Given the description of an element on the screen output the (x, y) to click on. 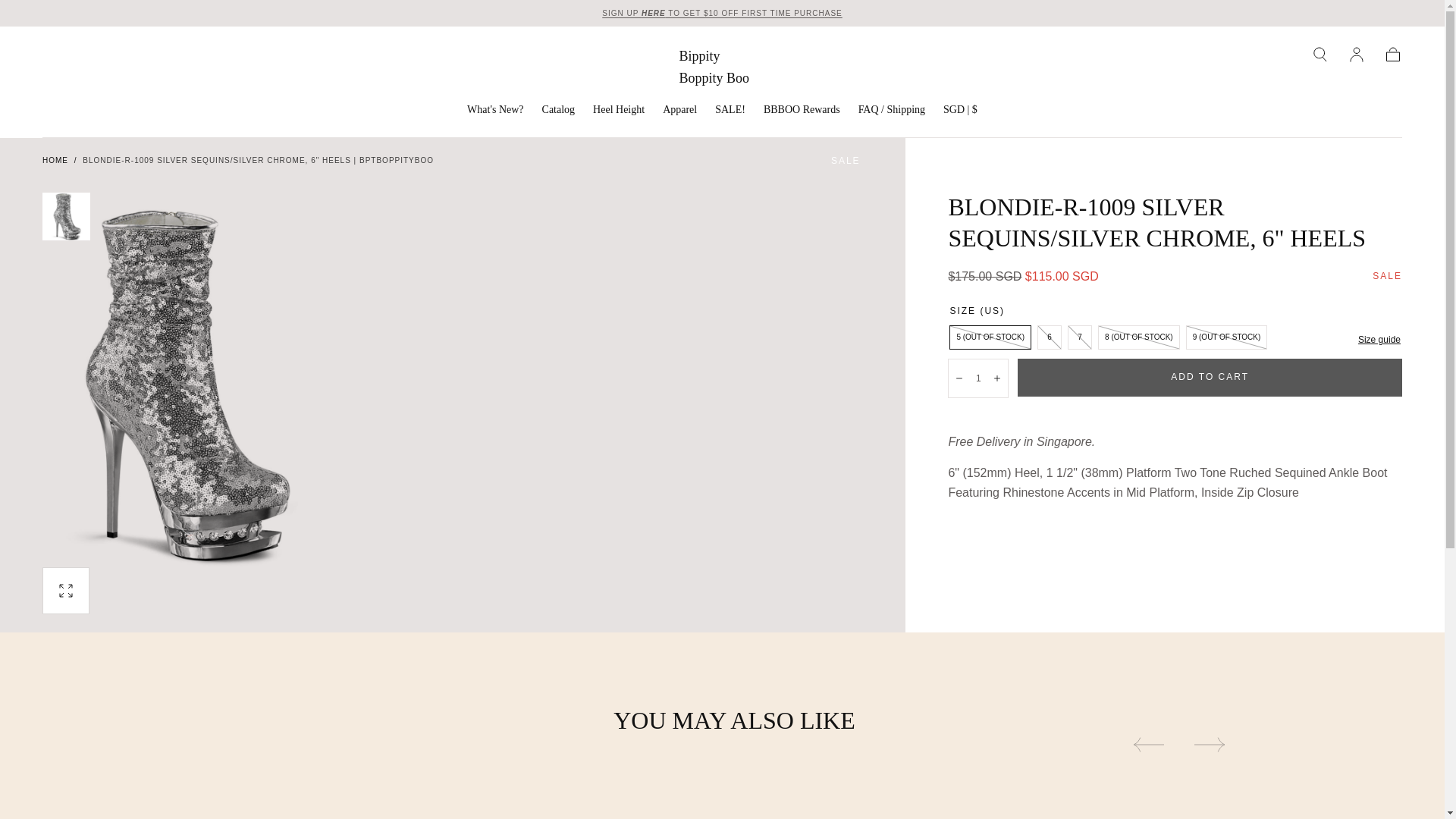
Catalog (558, 112)
Heel Height (618, 112)
Bippity Boppity Boo (722, 67)
Apparel (679, 112)
Sign in (1356, 54)
BBBOO Rewards (801, 112)
Cart (1393, 54)
SALE! (729, 112)
7 (1079, 337)
6 (1048, 337)
What's New? (494, 112)
Cart (1393, 54)
Skip to content (67, 18)
